Given the description of an element on the screen output the (x, y) to click on. 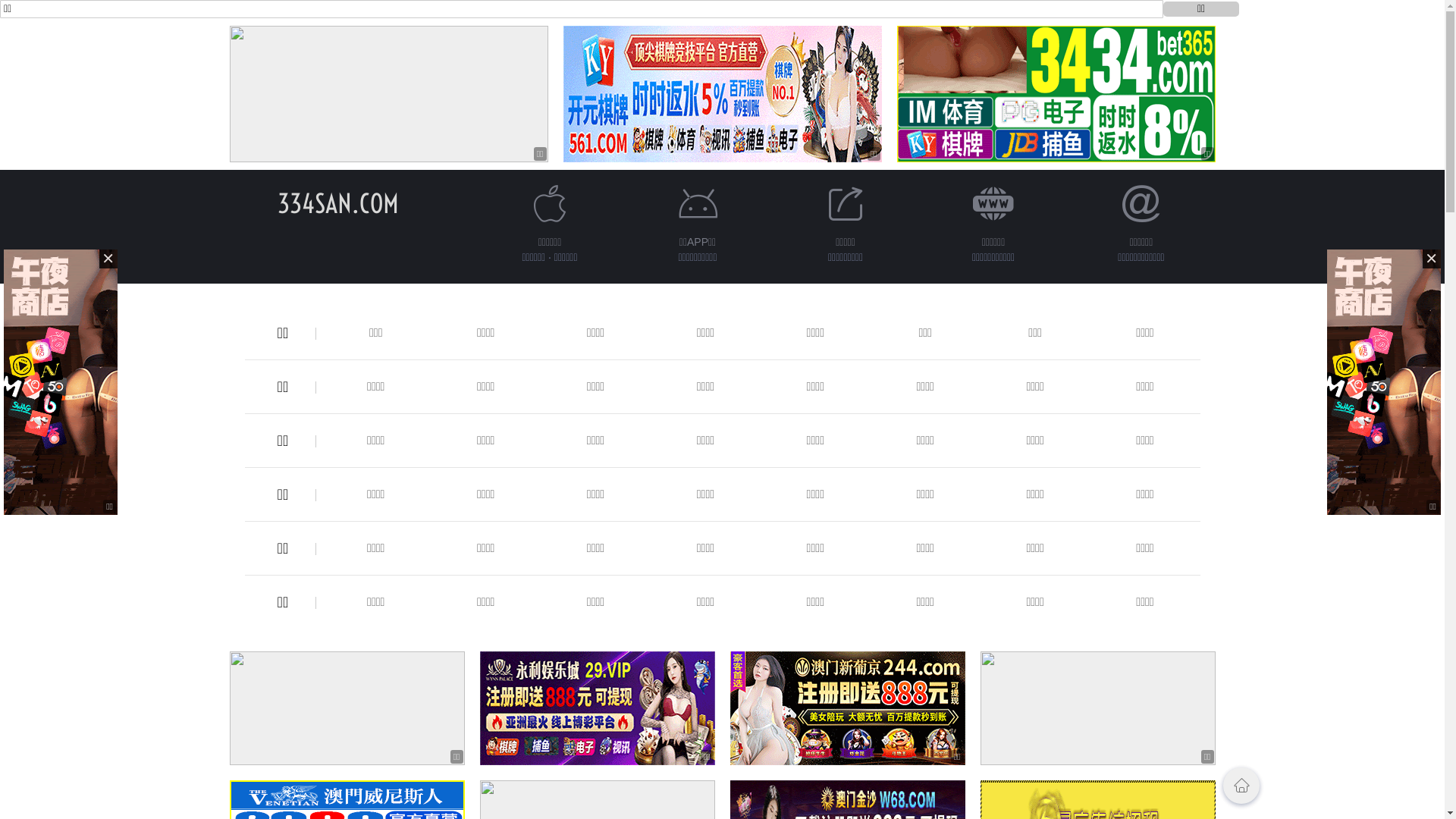
334SAN.COM Element type: text (337, 203)
